Given the description of an element on the screen output the (x, y) to click on. 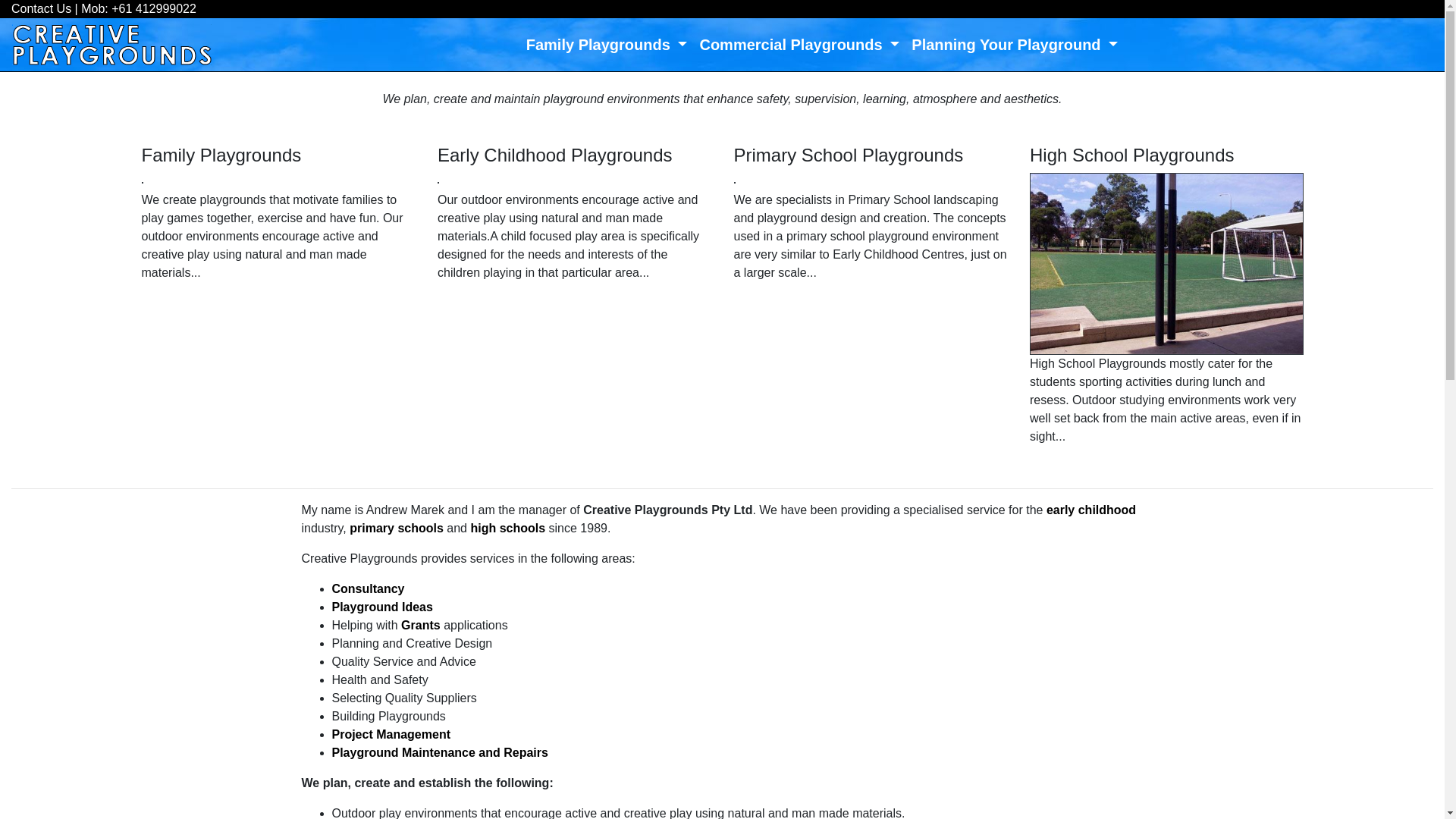
primary schools Element type: text (396, 527)
Consultancy Element type: text (368, 588)
Playground Maintenance and Repairs Element type: text (440, 752)
Playground Ideas Element type: text (382, 606)
+61 412999022 Element type: text (153, 8)
Contact Us Element type: text (41, 8)
early childhood Element type: text (1090, 509)
high schools Element type: text (507, 527)
Project Management Element type: text (391, 734)
Grants Element type: text (422, 624)
Commercial Playgrounds Element type: text (799, 44)
Planning Your Playground Element type: text (1014, 44)
Family Playgrounds Element type: text (606, 44)
